Given the description of an element on the screen output the (x, y) to click on. 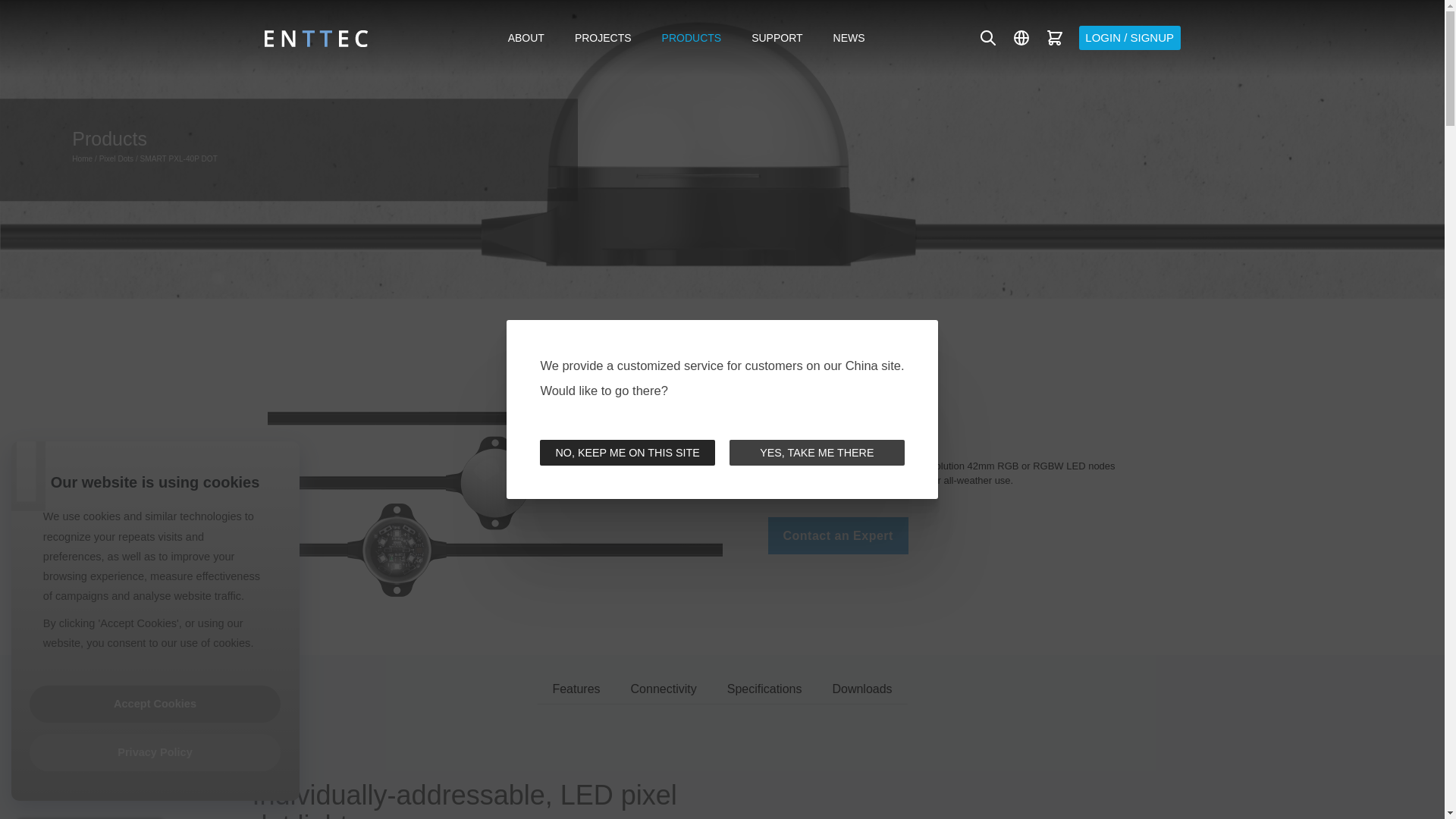
PROJECTS (602, 37)
PRODUCTS (691, 37)
ABOUT (526, 37)
View your shopping cart (1054, 37)
